Given the description of an element on the screen output the (x, y) to click on. 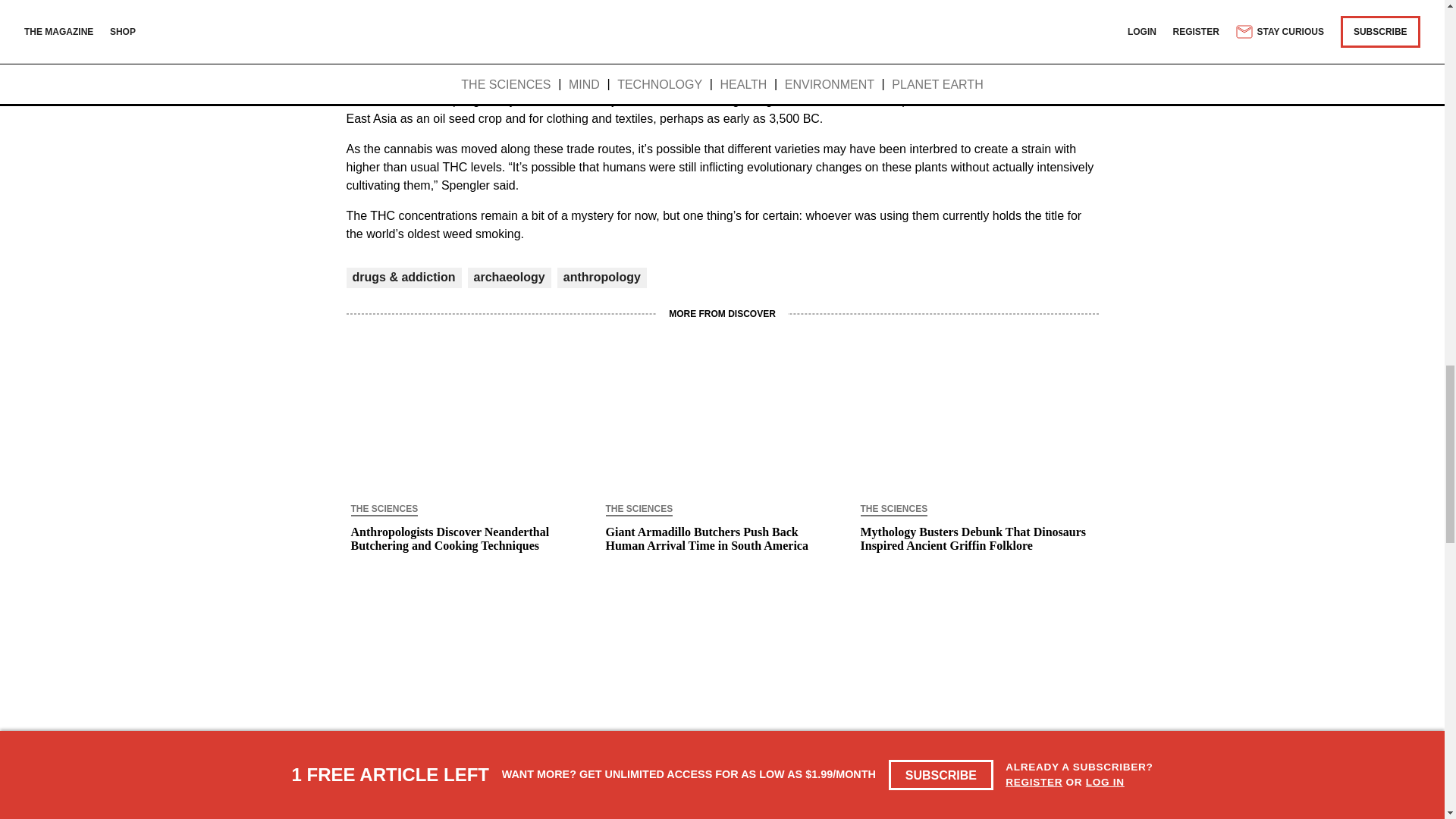
THE SCIENCES (383, 510)
archaeology (508, 277)
anthropology (601, 277)
